Given the description of an element on the screen output the (x, y) to click on. 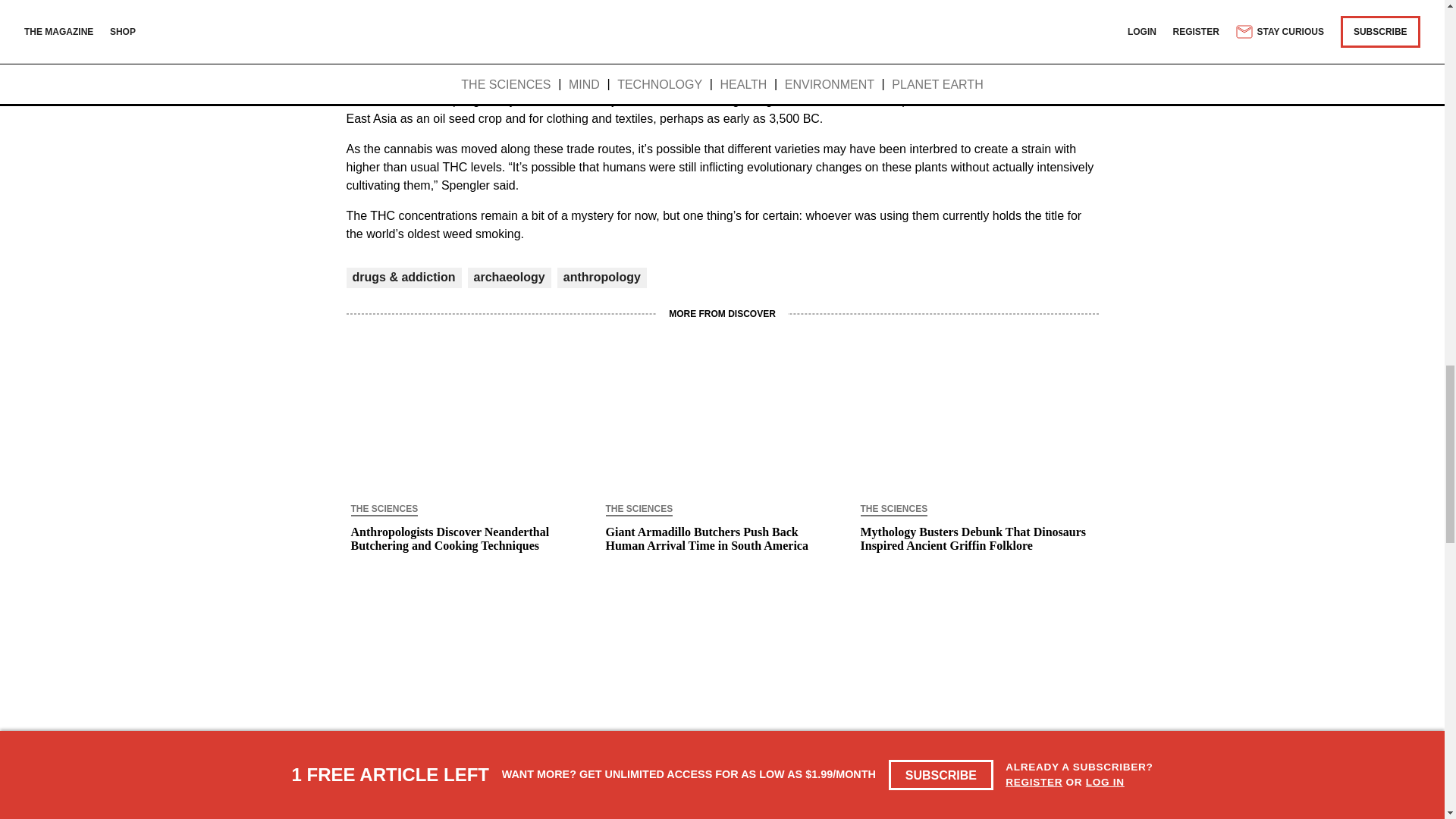
THE SCIENCES (383, 510)
archaeology (508, 277)
anthropology (601, 277)
